Given the description of an element on the screen output the (x, y) to click on. 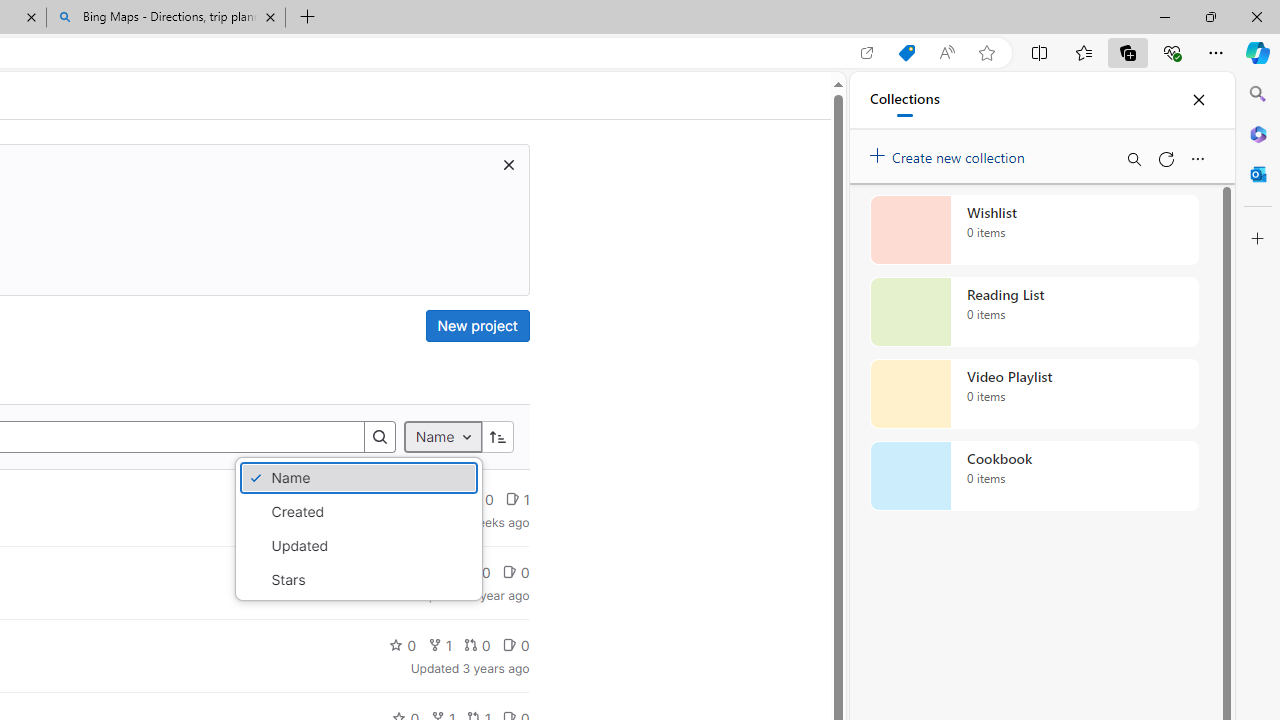
Reading List collection, 0 items (1034, 312)
Create new collection (950, 153)
1 (439, 644)
Class: s16 gl-icon gl-button-icon  (508, 164)
Dismiss trial promotion (508, 164)
Video Playlist collection, 0 items (1034, 394)
2 (437, 571)
Sort direction: Ascending (497, 437)
